Given the description of an element on the screen output the (x, y) to click on. 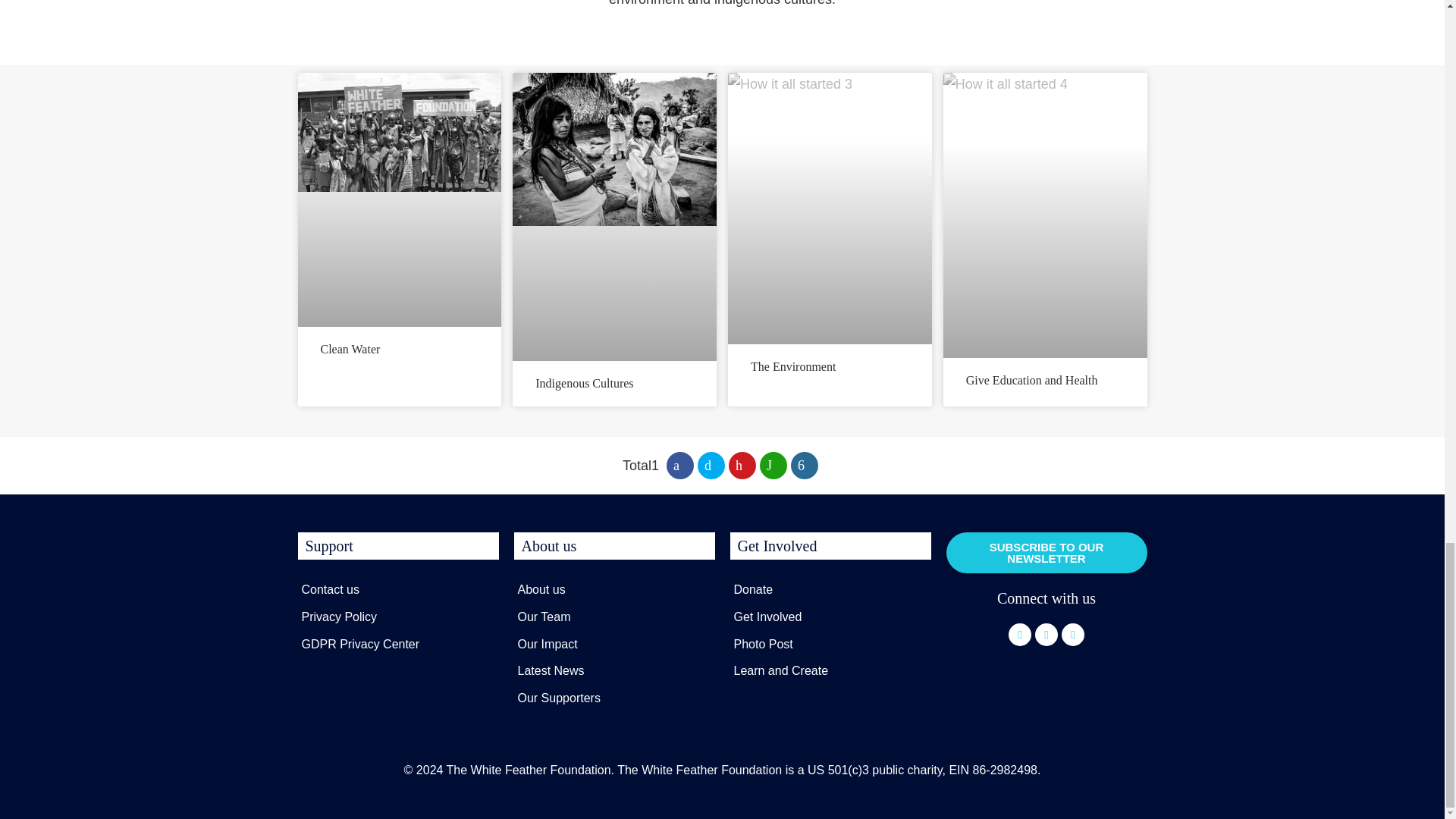
Share on Pinterest (742, 465)
Total (641, 465)
Share on WhatsApp (773, 465)
Share on Share (804, 465)
Share on Facebook (680, 465)
Share on Twitter (711, 465)
